Given the description of an element on the screen output the (x, y) to click on. 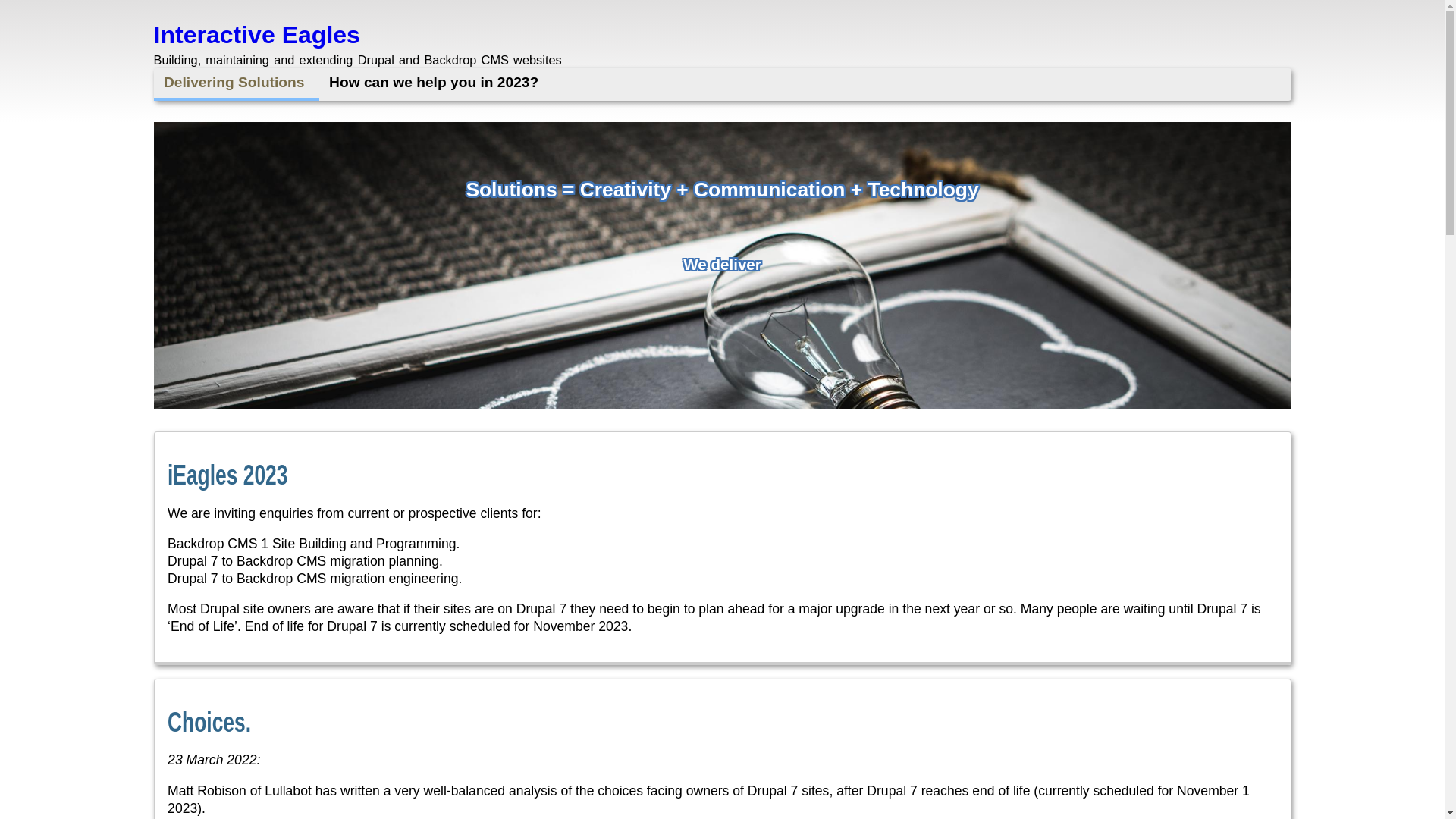
iEagles 2023 Element type: text (227, 469)
Skip to main content Element type: text (0, 0)
Delivering Solutions Element type: text (235, 84)
Interactive Eagles Element type: text (256, 34)
How can we help you in 2023? Element type: text (436, 82)
Choices. Element type: text (209, 717)
